Given the description of an element on the screen output the (x, y) to click on. 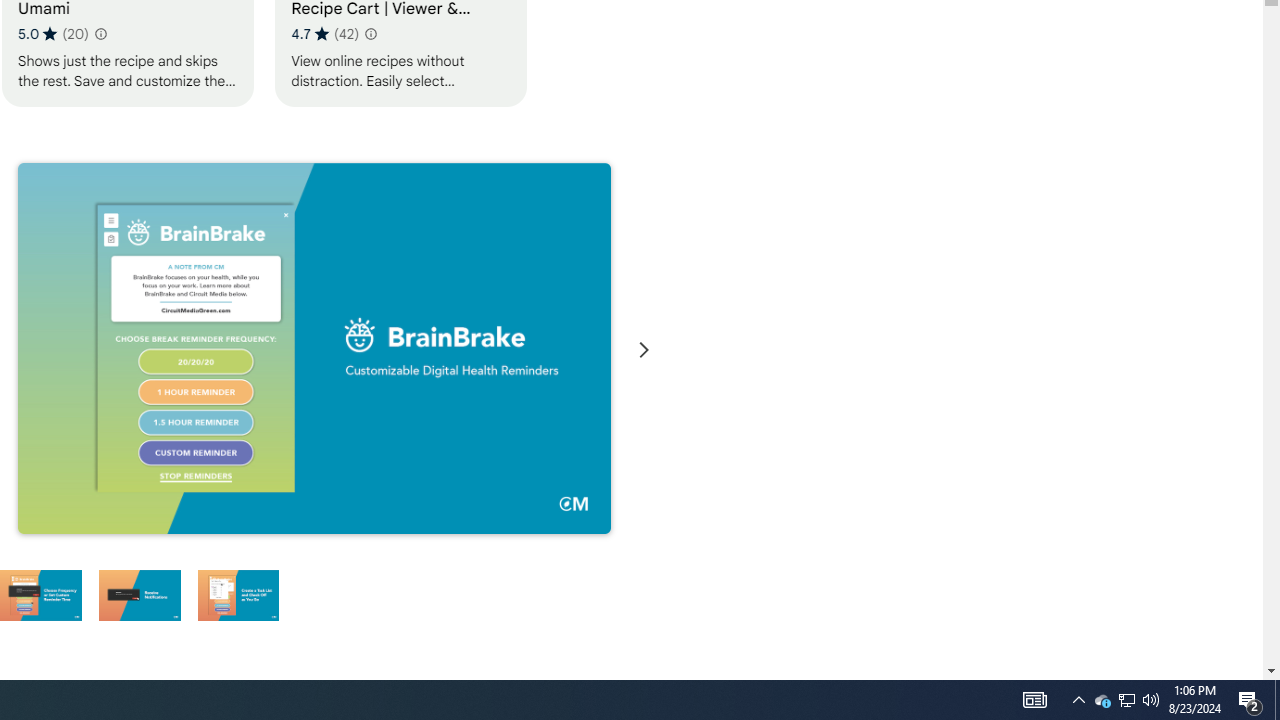
Preview slide 5 (139, 594)
Item media 2 screenshot (314, 348)
Average rating 5 out of 5 stars. 20 ratings. (53, 33)
Preview slide 6 (238, 594)
Average rating 4.7 out of 5 stars. 42 ratings. (324, 33)
Item media 2 screenshot (314, 349)
Preview slide 4 (40, 594)
Learn more about results and reviews "Umami" (99, 34)
Next slide (643, 349)
